Given the description of an element on the screen output the (x, y) to click on. 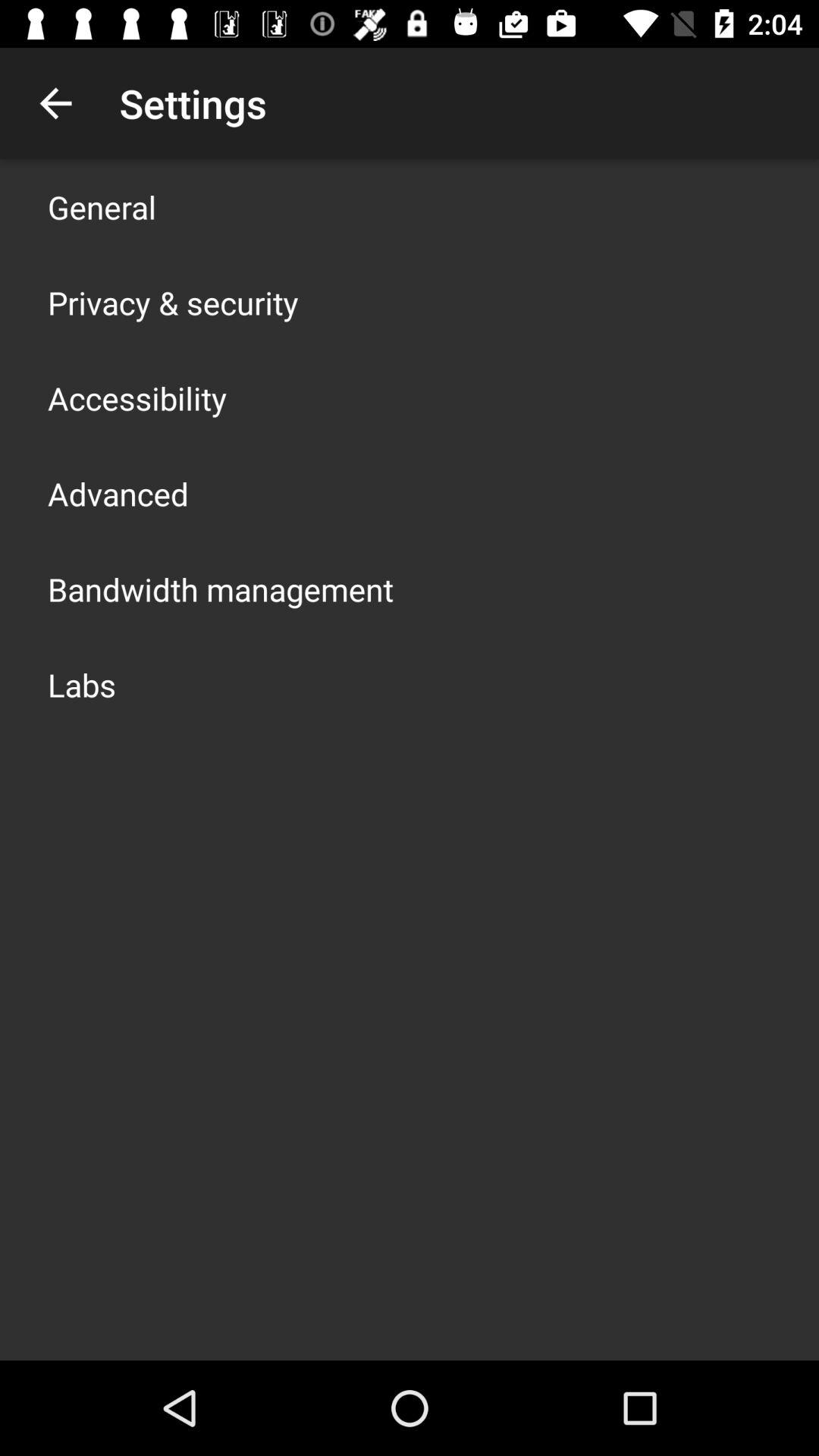
jump to general icon (101, 206)
